Given the description of an element on the screen output the (x, y) to click on. 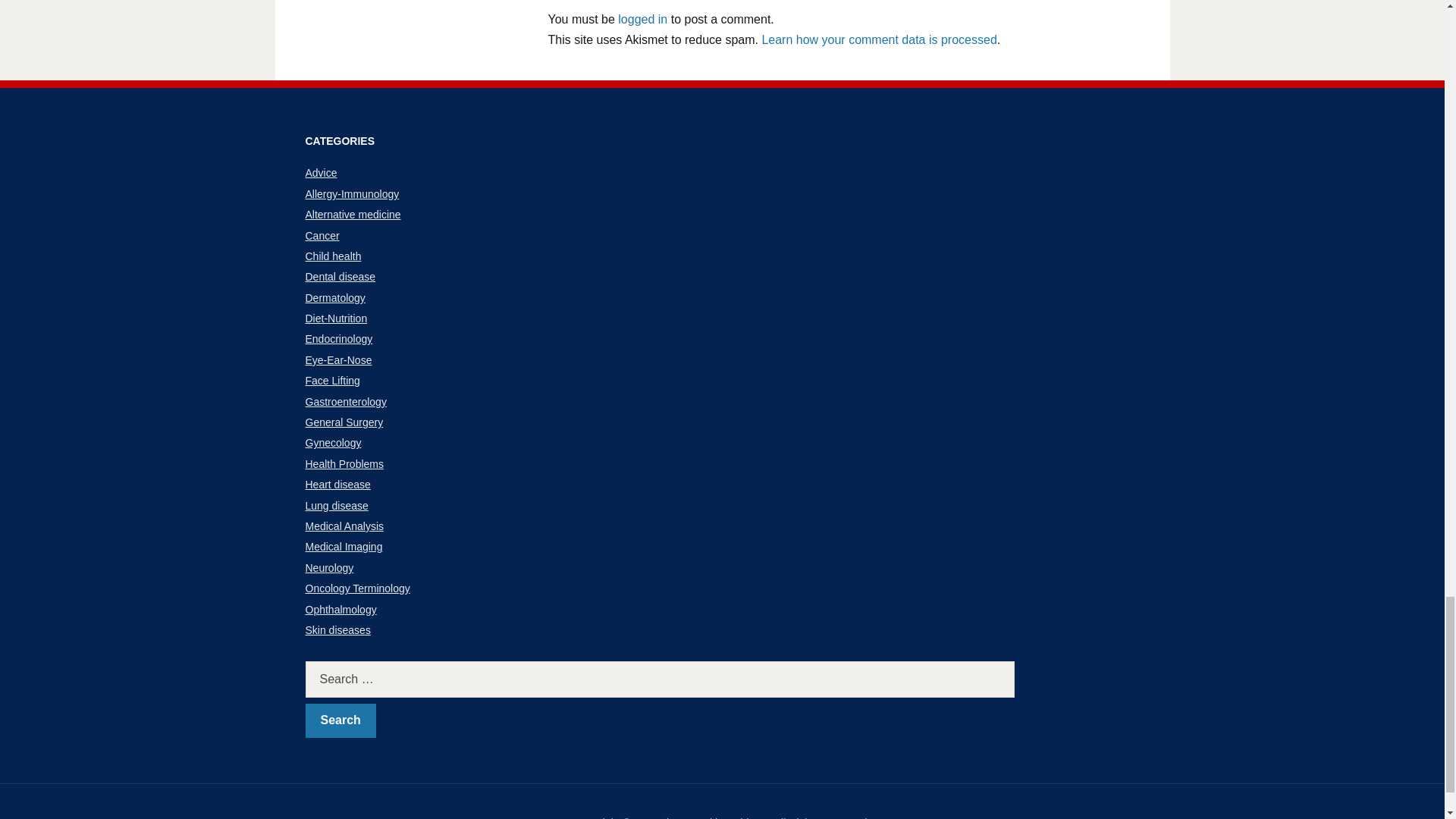
Search (339, 720)
Search (339, 720)
logged in (641, 19)
Learn how your comment data is processed (878, 39)
